Given the description of an element on the screen output the (x, y) to click on. 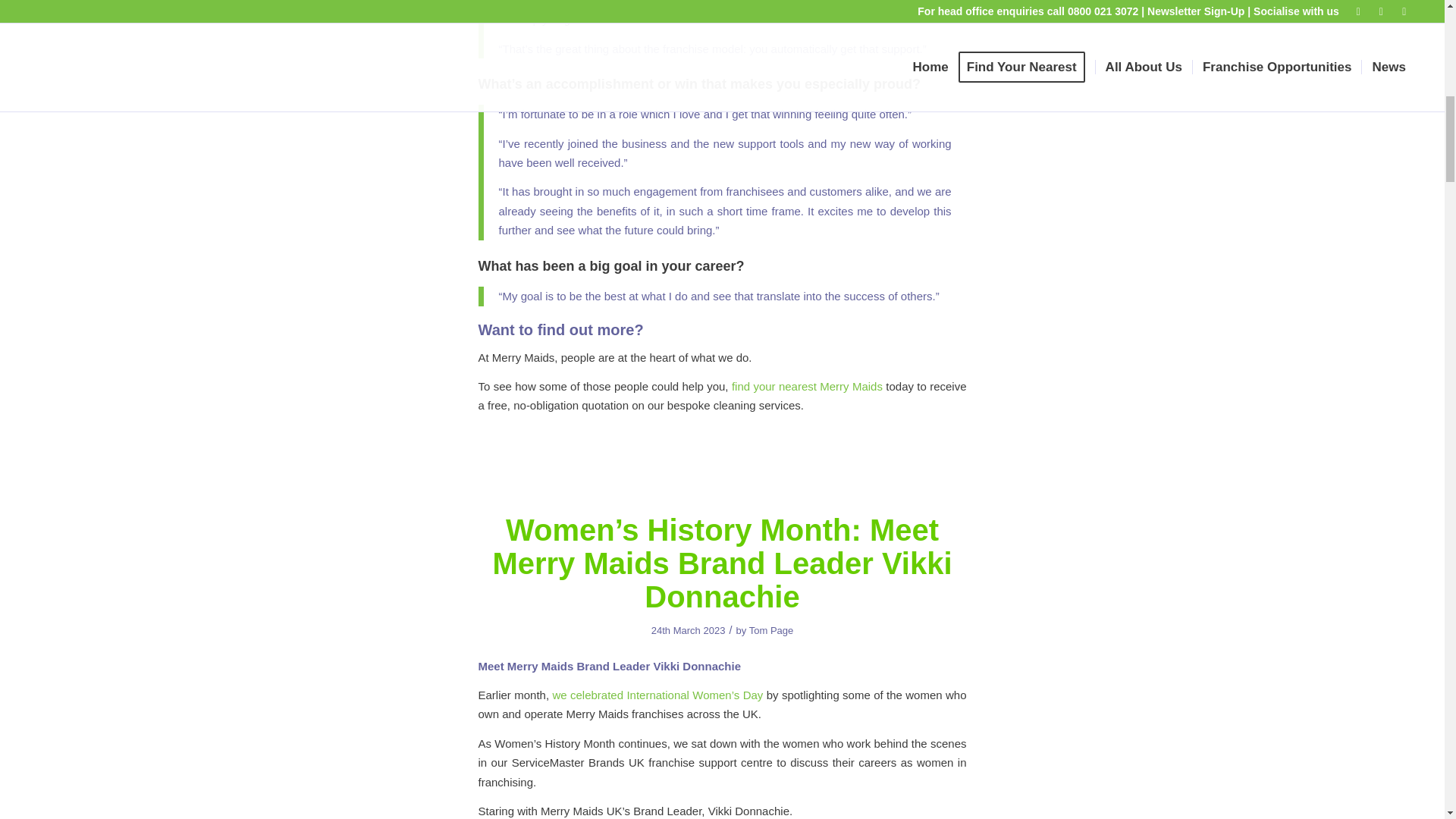
Posts by Tom Page (771, 630)
